Given the description of an element on the screen output the (x, y) to click on. 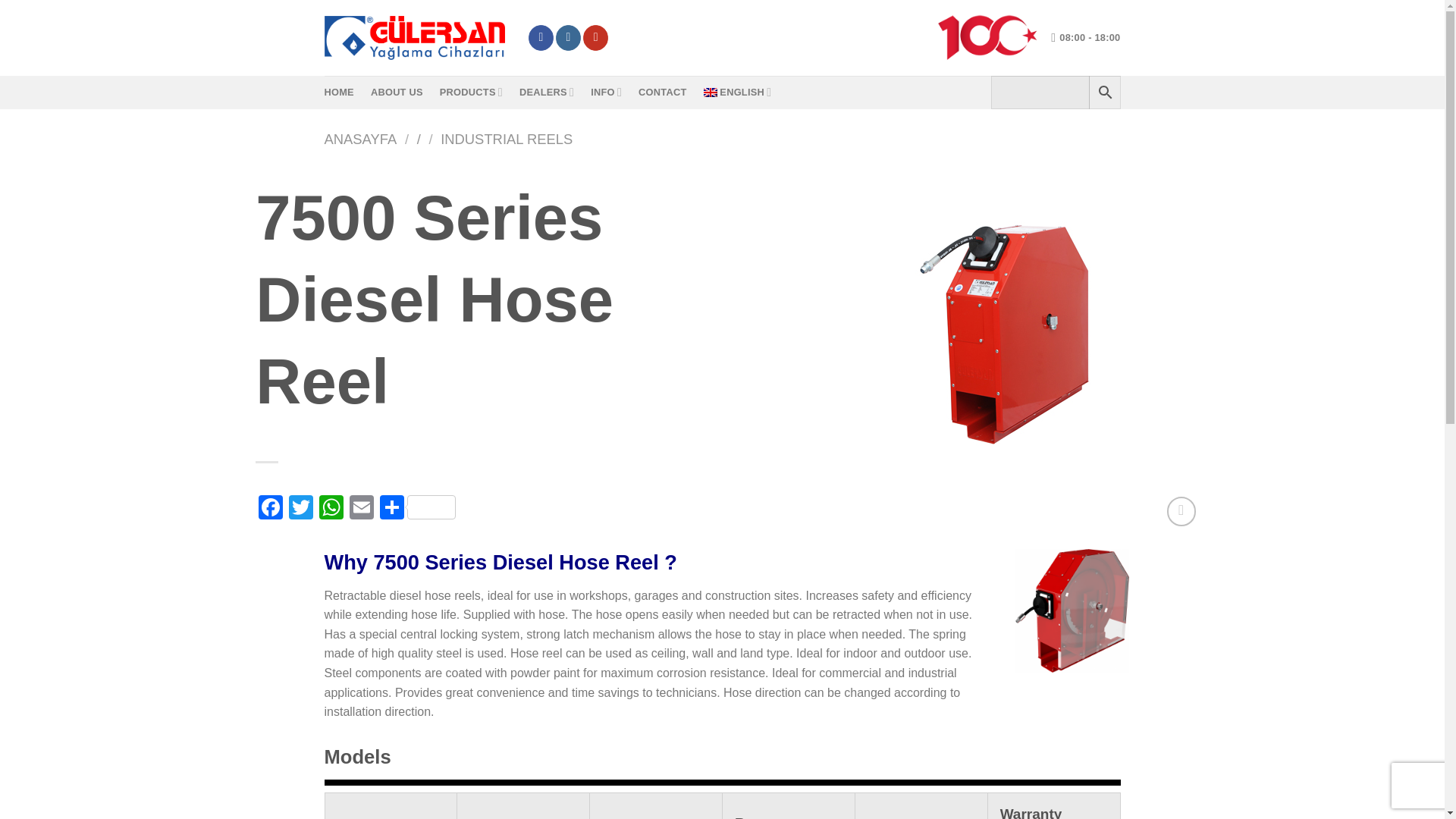
DEALERS (546, 91)
08:00 - 18:00  (1085, 37)
WhatsApp (330, 509)
ENGLISH (737, 91)
Twitter (300, 509)
INFO (606, 91)
English (737, 91)
CONTACT (662, 92)
Zoom (1180, 511)
PRODUCTS (470, 91)
Follow on YouTube (595, 37)
ANASAYFA (360, 139)
INDUSTRIAL REELS (506, 139)
WhatsApp (330, 509)
Twitter (300, 509)
